Given the description of an element on the screen output the (x, y) to click on. 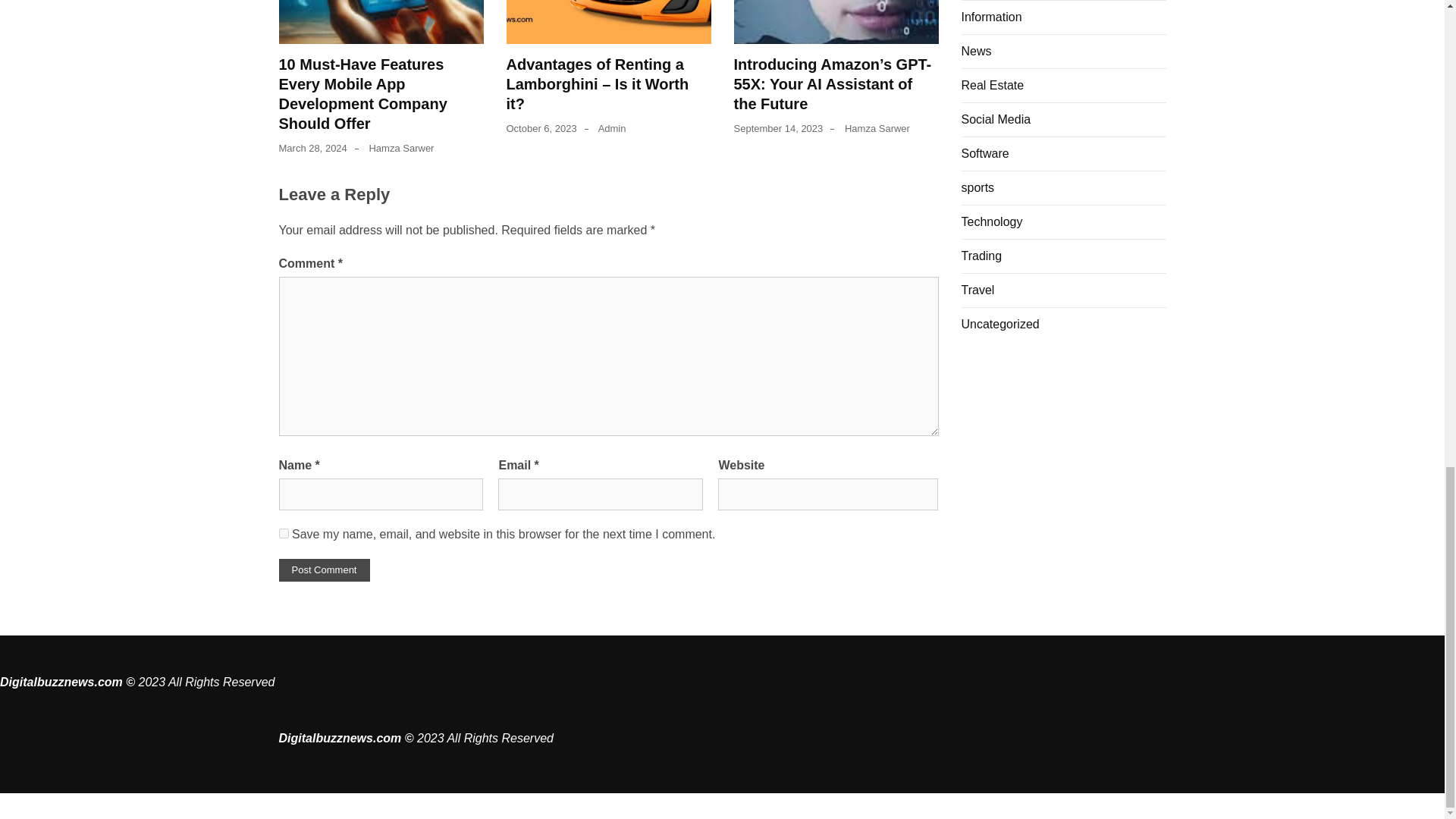
yes (283, 533)
Post Comment (324, 569)
